Given the description of an element on the screen output the (x, y) to click on. 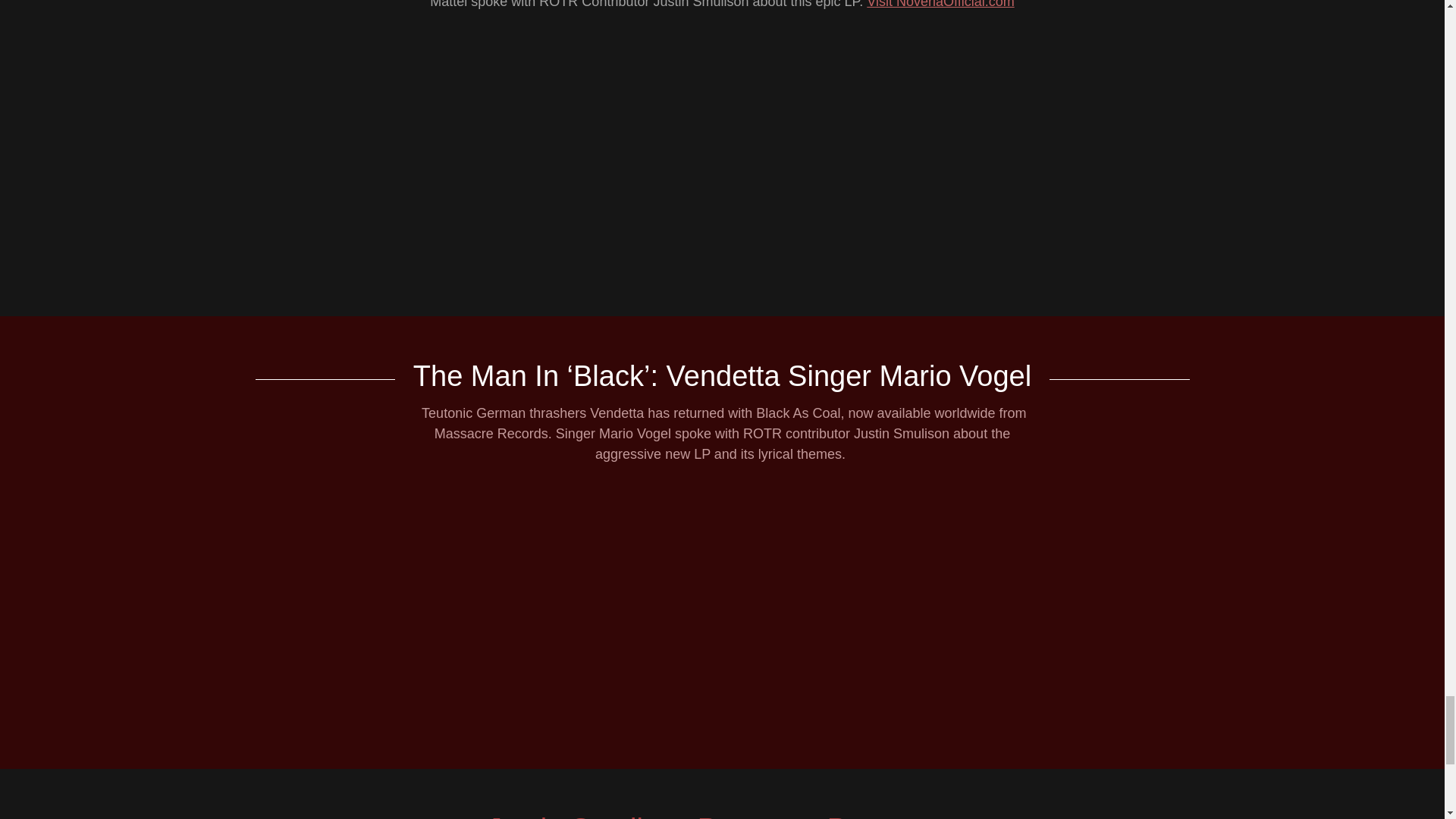
Visit NoveriaOfficial.com (939, 4)
Clickable audio widget (721, 608)
Clickable audio widget (721, 156)
